Given the description of an element on the screen output the (x, y) to click on. 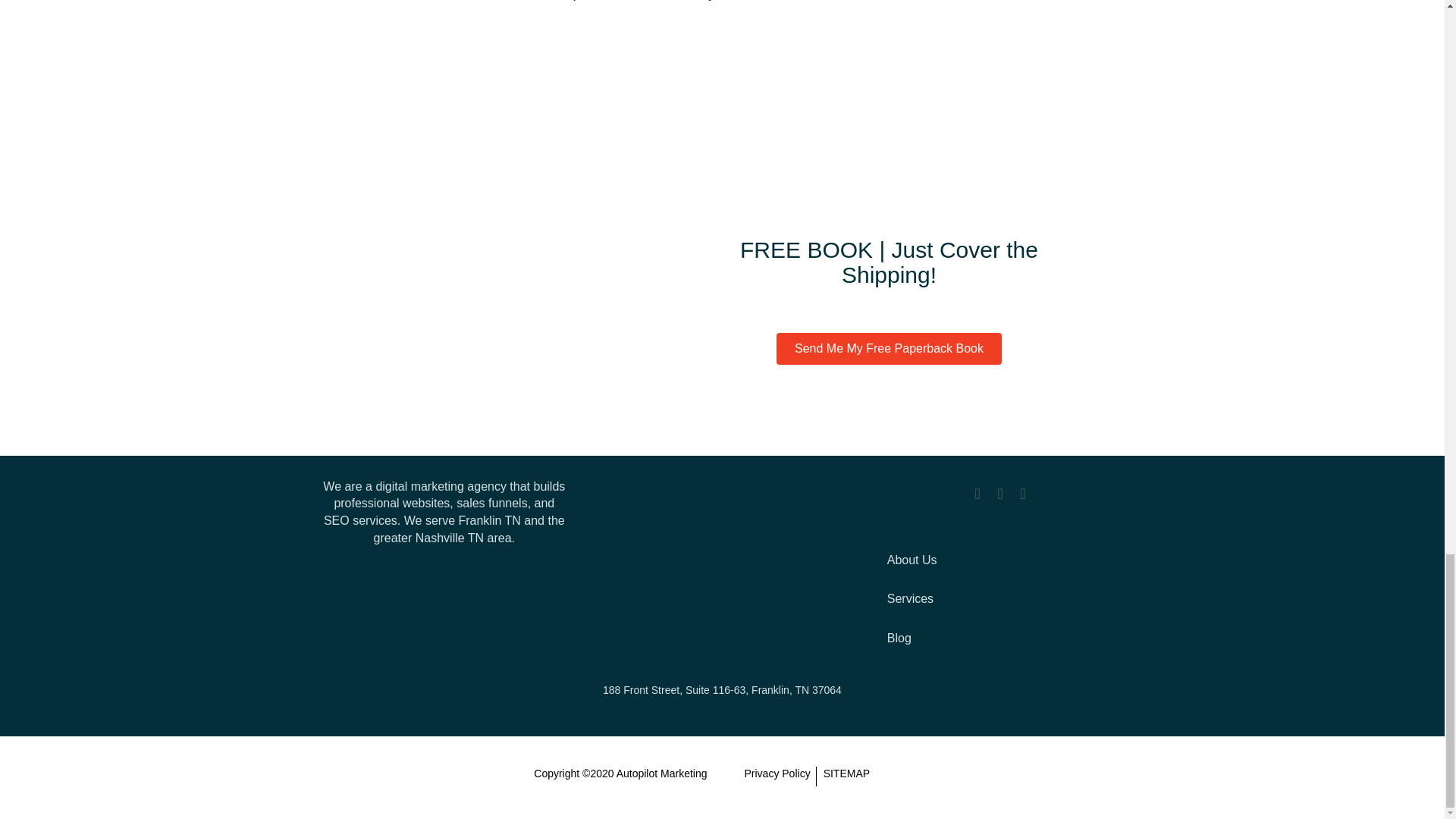
Autopilot Marketing (661, 773)
APlowercasewhite (722, 569)
About Us (1000, 560)
Nashville TN (448, 537)
Blog (1000, 638)
Privacy Policy (775, 775)
SITEMAP (845, 775)
Send Me My Free Paperback Book (888, 348)
Franklin TN (488, 520)
Services (1000, 599)
